Given the description of an element on the screen output the (x, y) to click on. 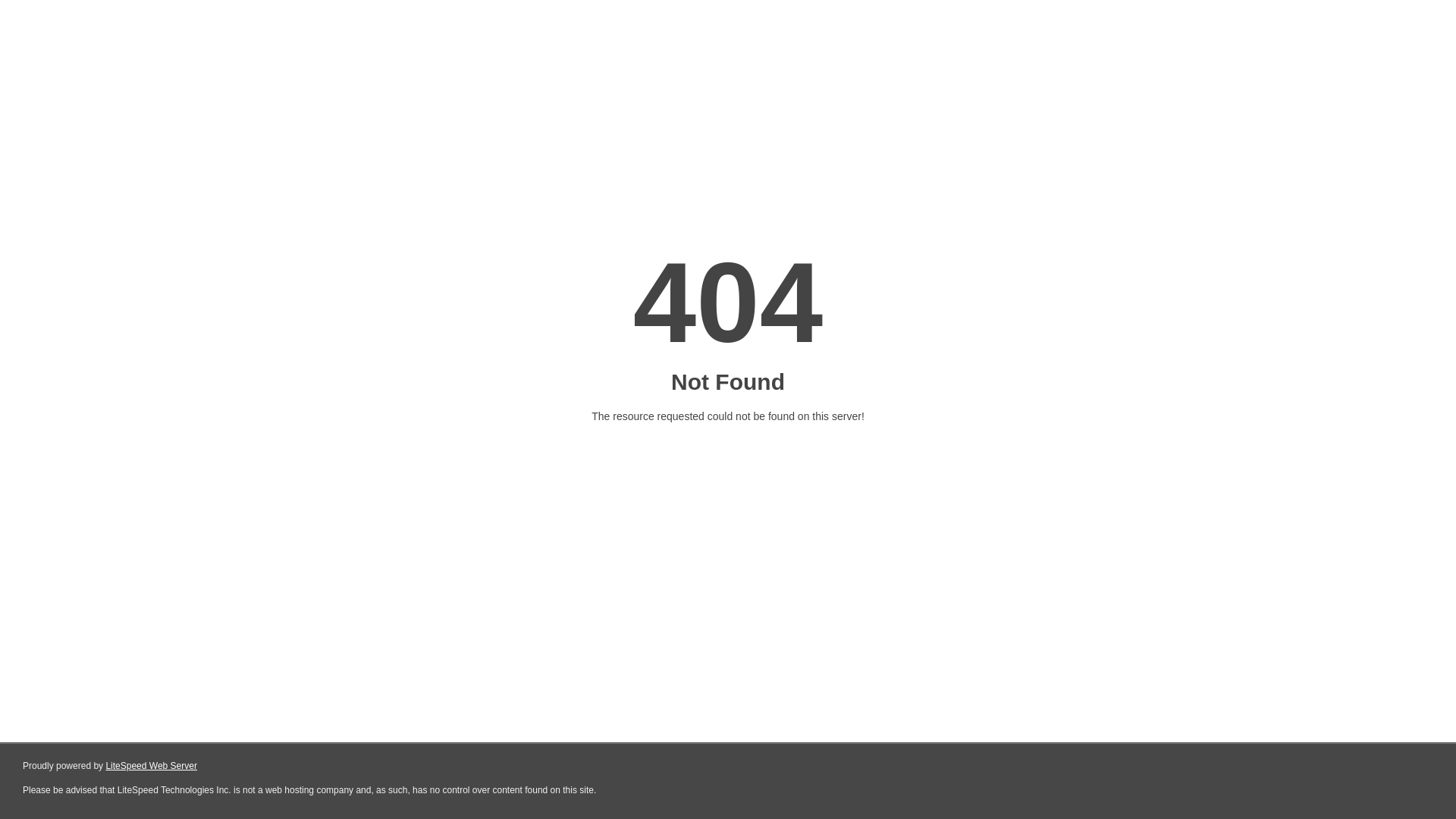
LiteSpeed Web Server Element type: text (151, 765)
